Given the description of an element on the screen output the (x, y) to click on. 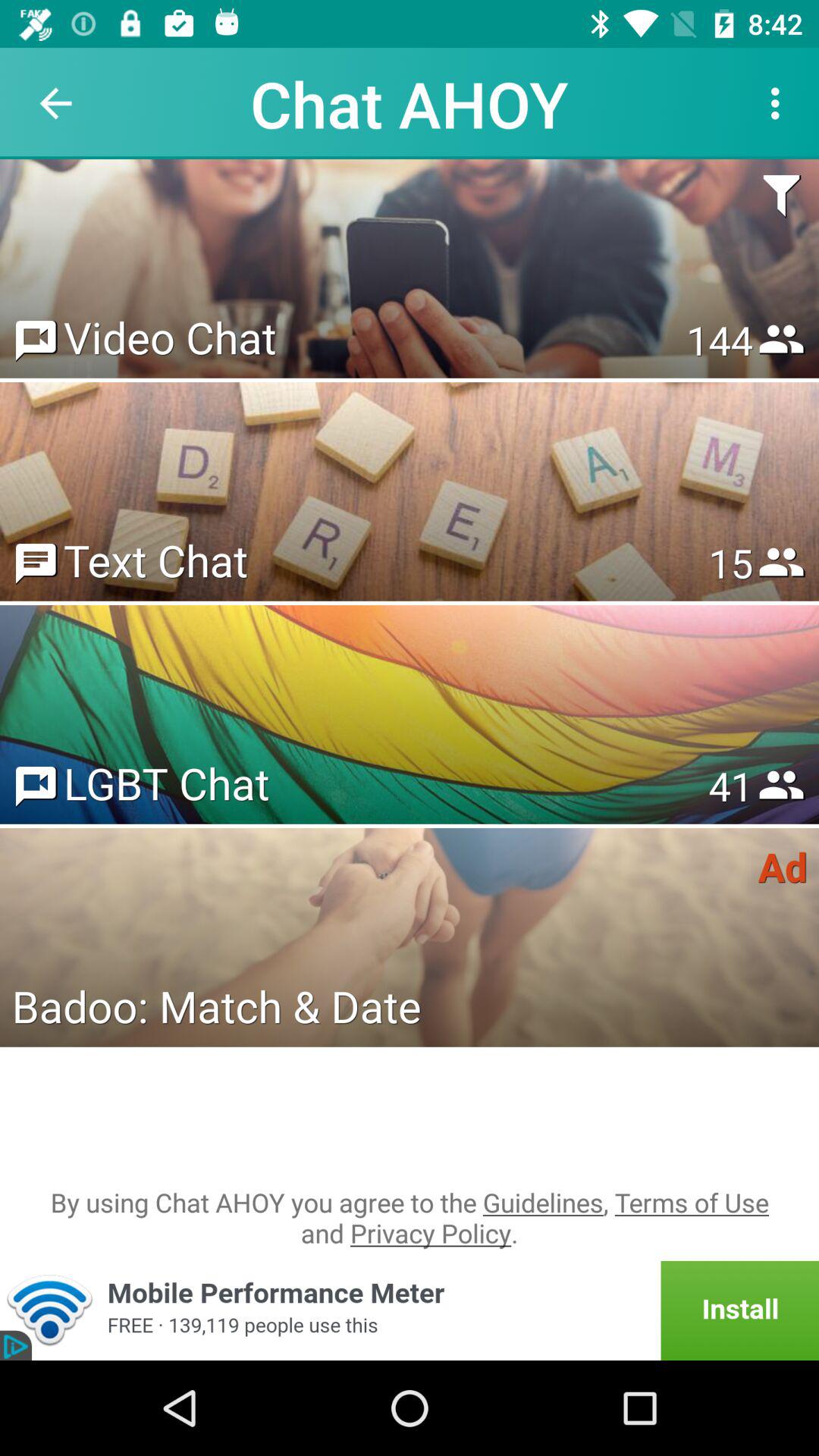
tap item next to text chat (730, 562)
